Given the description of an element on the screen output the (x, y) to click on. 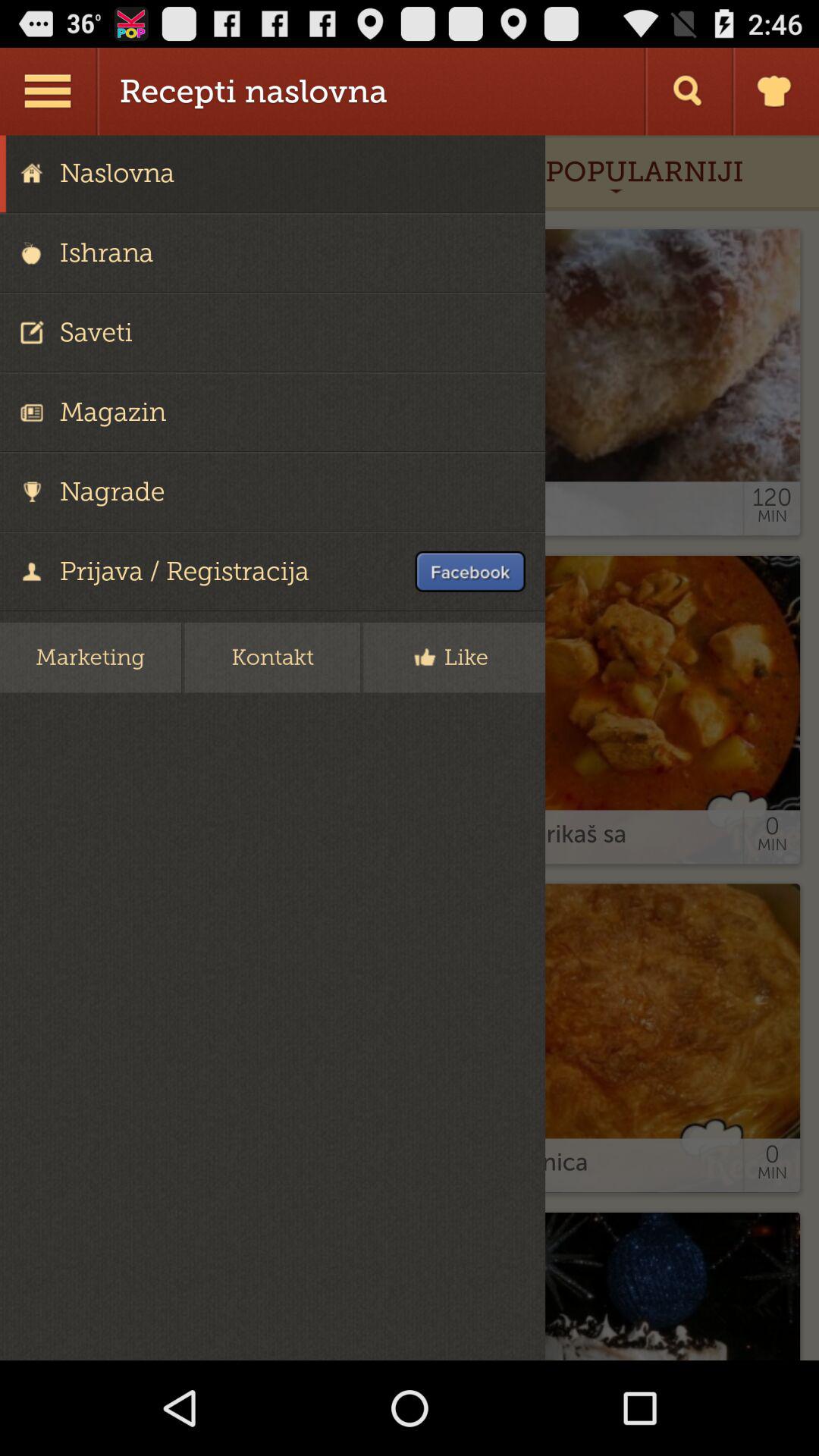
menu button (49, 91)
